Given the description of an element on the screen output the (x, y) to click on. 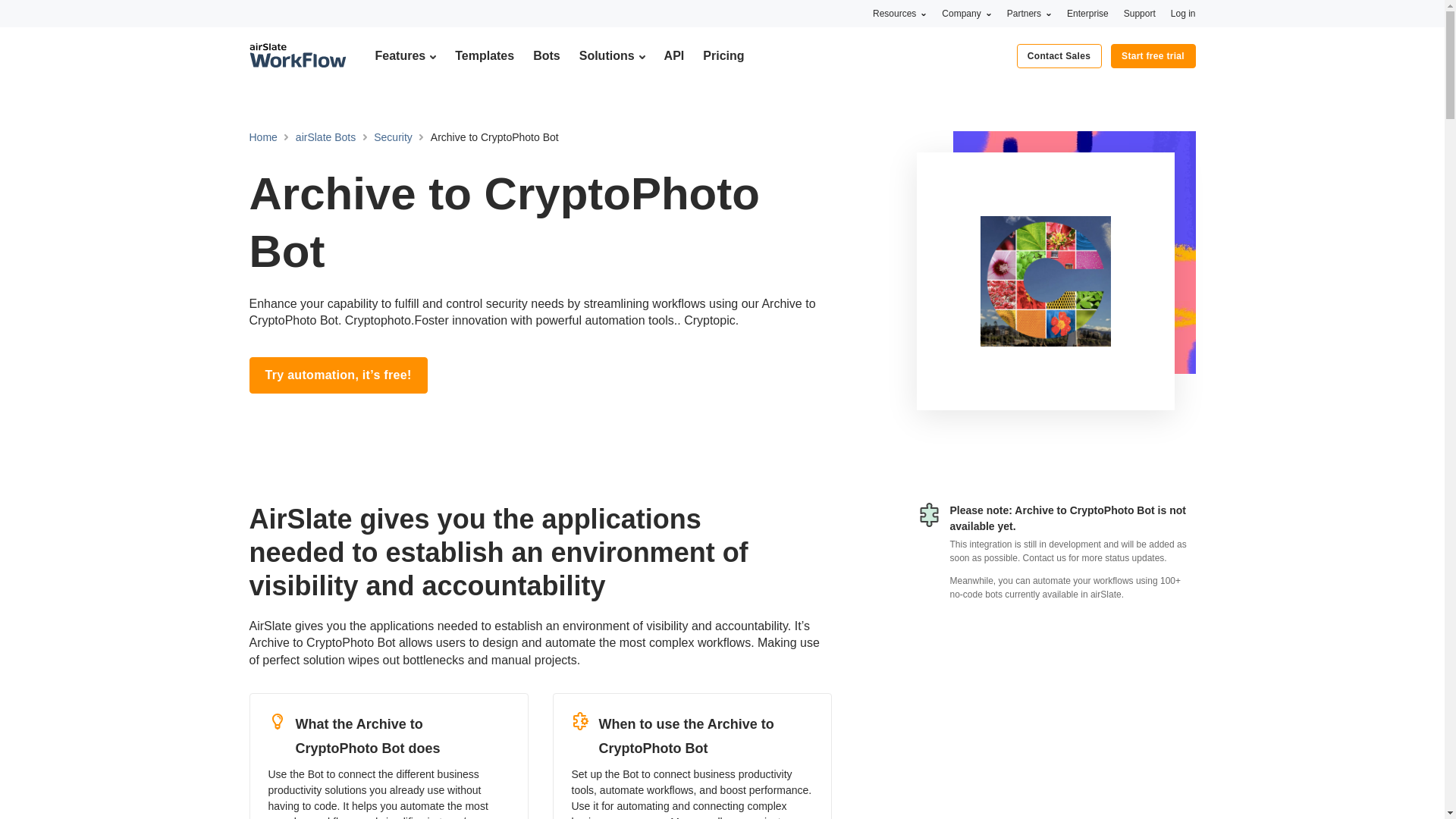
Resources (899, 13)
Support (1140, 13)
Log in (1182, 13)
Templates (483, 55)
Partners (1029, 13)
Company (966, 13)
Enterprise (1087, 13)
